Given the description of an element on the screen output the (x, y) to click on. 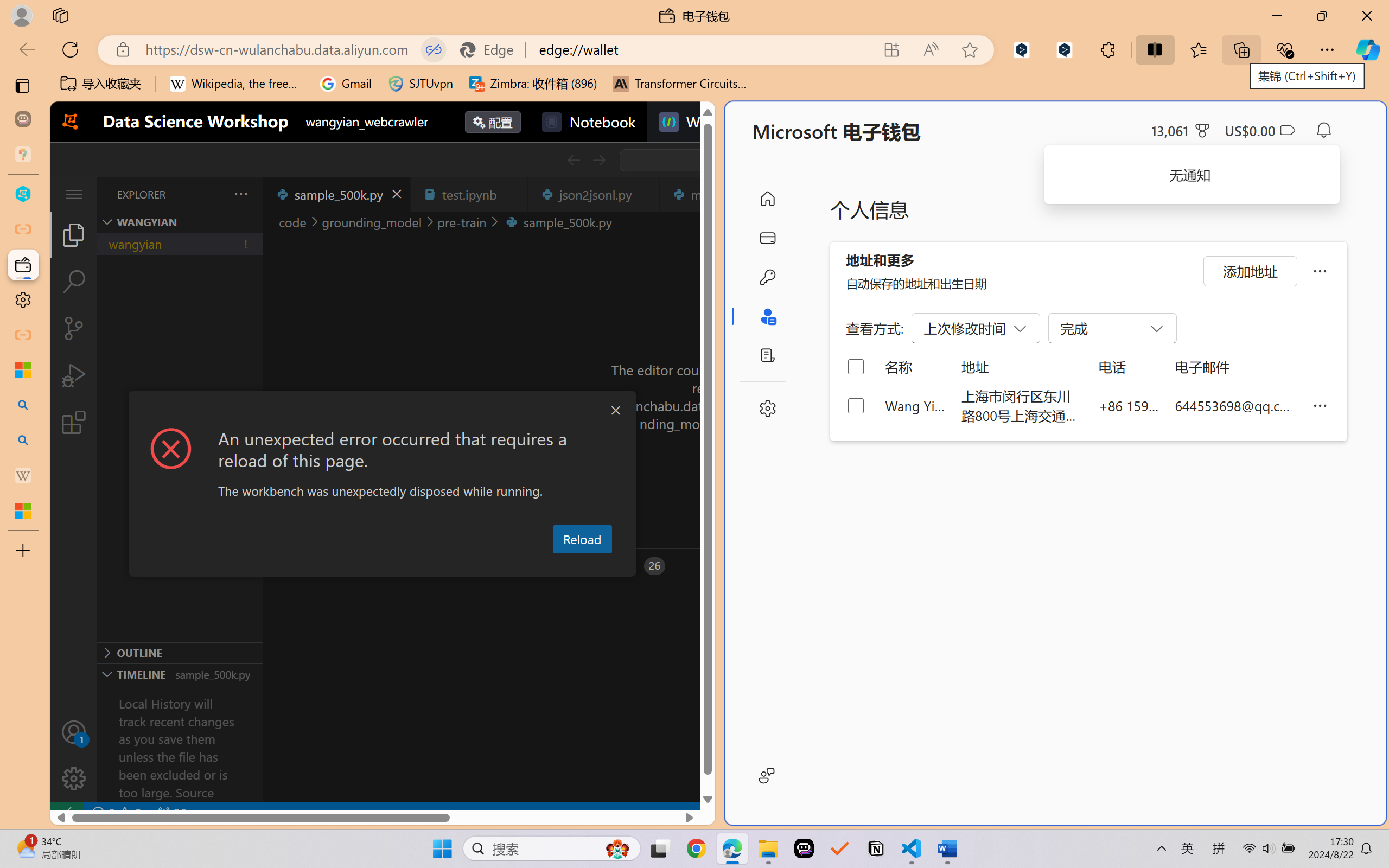
Debug Console (Ctrl+Shift+Y) (463, 565)
No Problems (115, 812)
Class: menubar compact overflow-menu-only (73, 194)
644553698@qq.com (1235, 405)
+86 159 0032 4640 (1128, 405)
Tab actions (644, 194)
Explorer (Ctrl+Shift+E) (73, 234)
Go Forward (Alt+RightArrow) (598, 159)
